Given the description of an element on the screen output the (x, y) to click on. 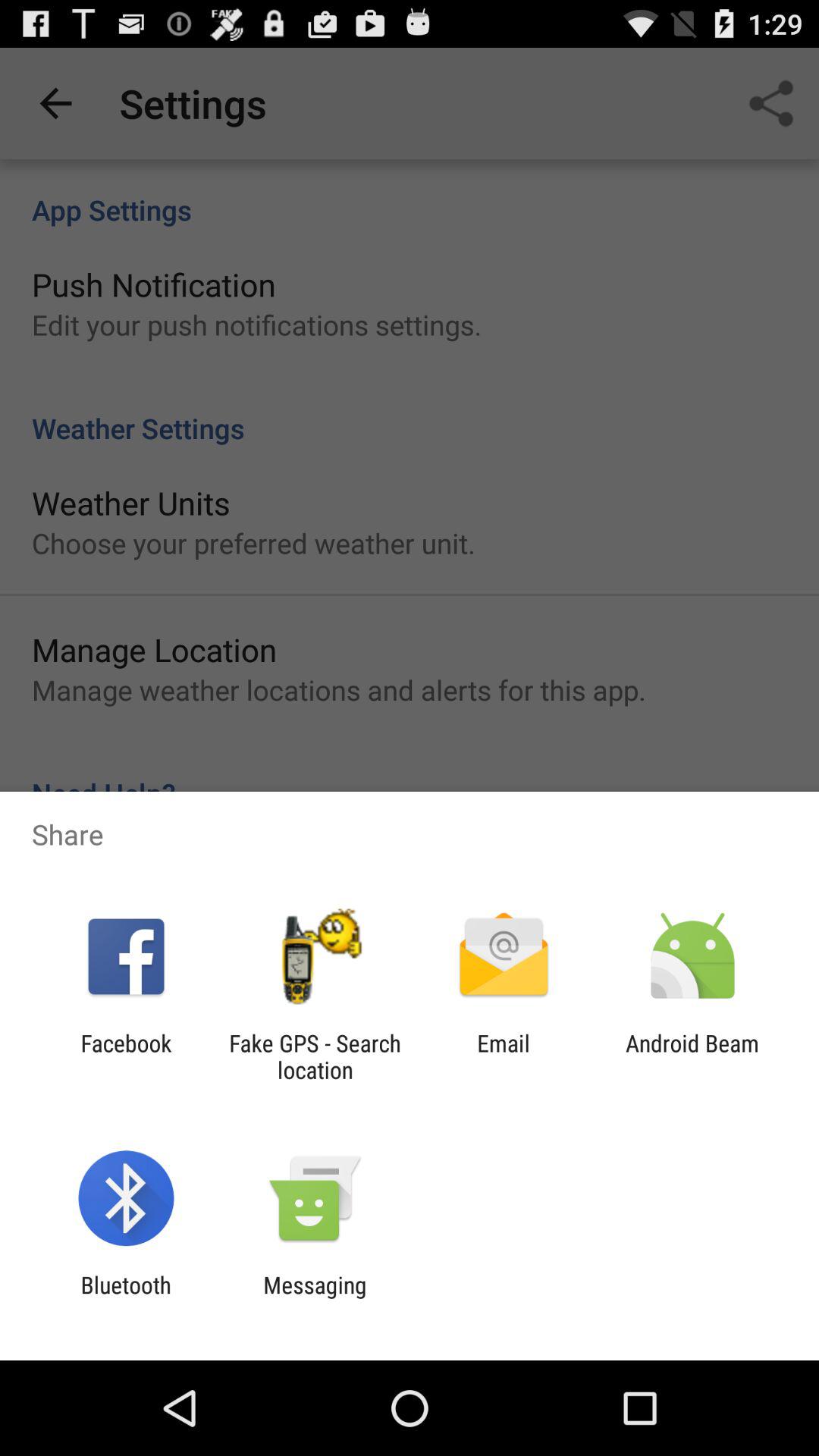
click icon to the left of android beam item (503, 1056)
